Given the description of an element on the screen output the (x, y) to click on. 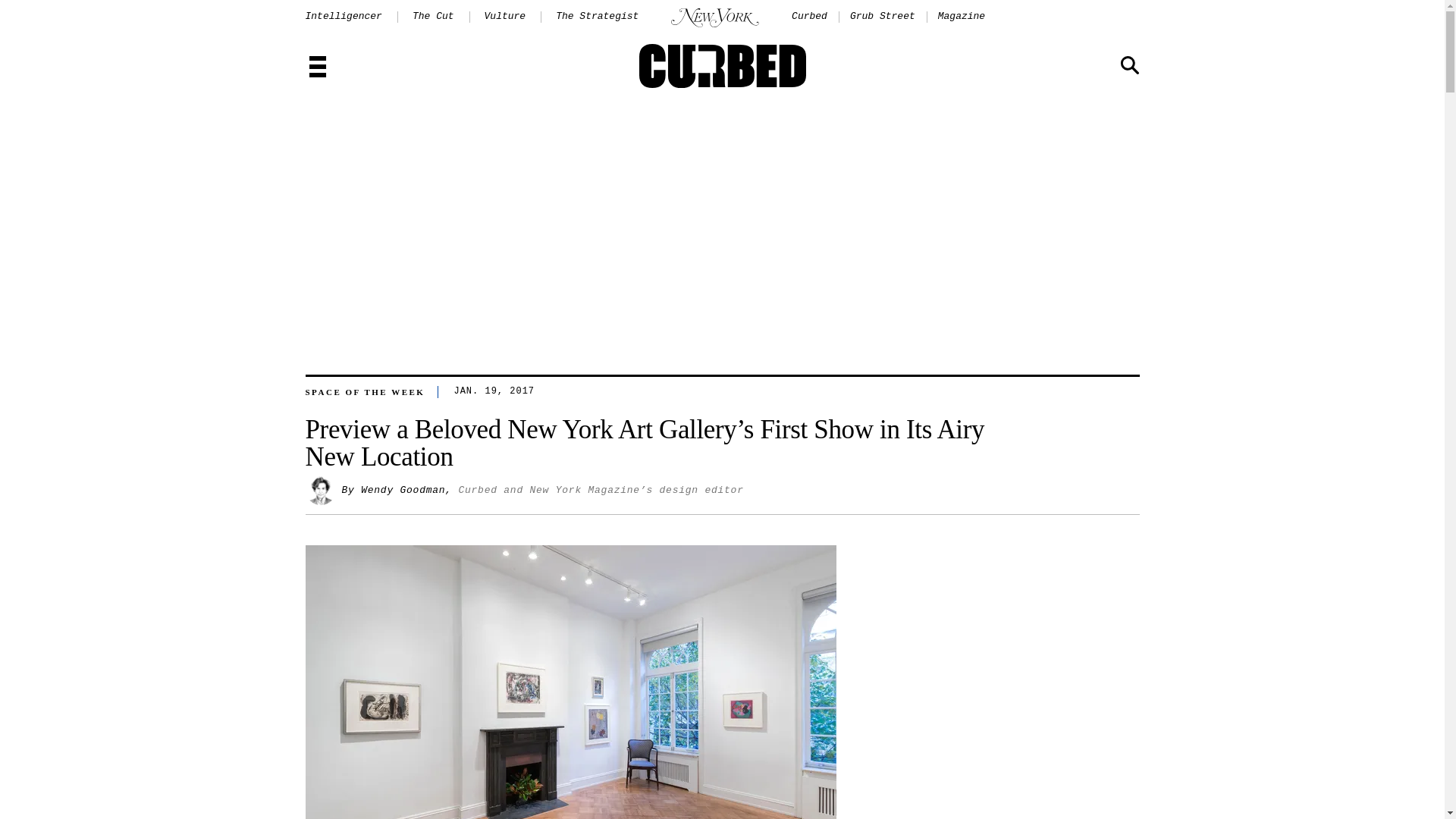
Menu (317, 67)
Magazine (961, 16)
Grub Street (882, 16)
The Strategist (597, 16)
Curbed (809, 16)
Vulture (504, 16)
Intelligencer (342, 16)
The Cut (433, 16)
